Given the description of an element on the screen output the (x, y) to click on. 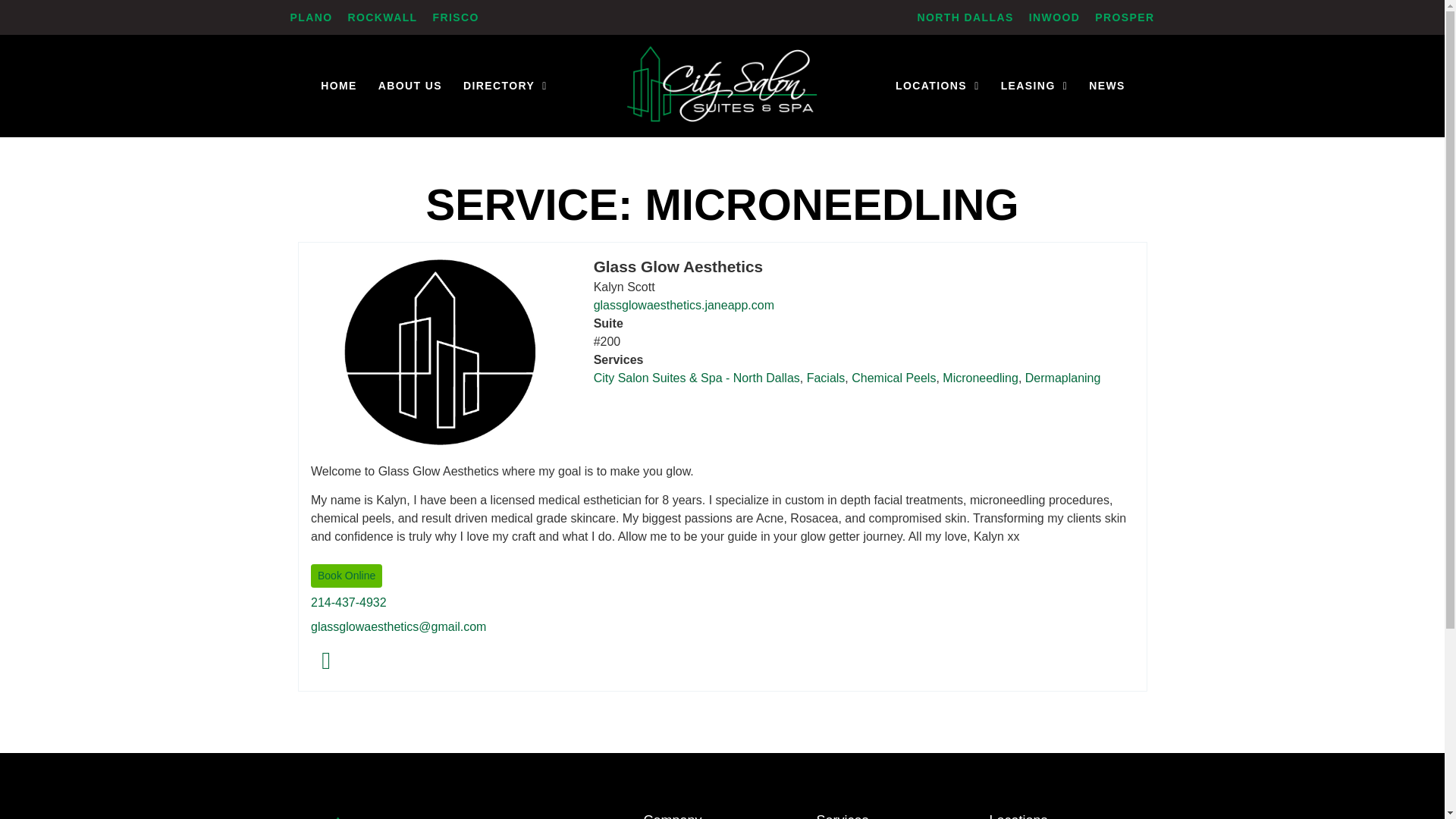
PLANO (310, 17)
ROCKWALL (381, 17)
Microneedling (979, 378)
Dermaplaning (1062, 378)
INWOOD (1054, 17)
ABOUT US (410, 86)
Chemical Peels (893, 378)
DIRECTORY (504, 86)
NORTH DALLAS (965, 17)
FRISCO (455, 17)
PROSPER (1124, 17)
LEASING (1034, 86)
HOME (339, 86)
Facials (825, 378)
LOCATIONS (937, 86)
